Given the description of an element on the screen output the (x, y) to click on. 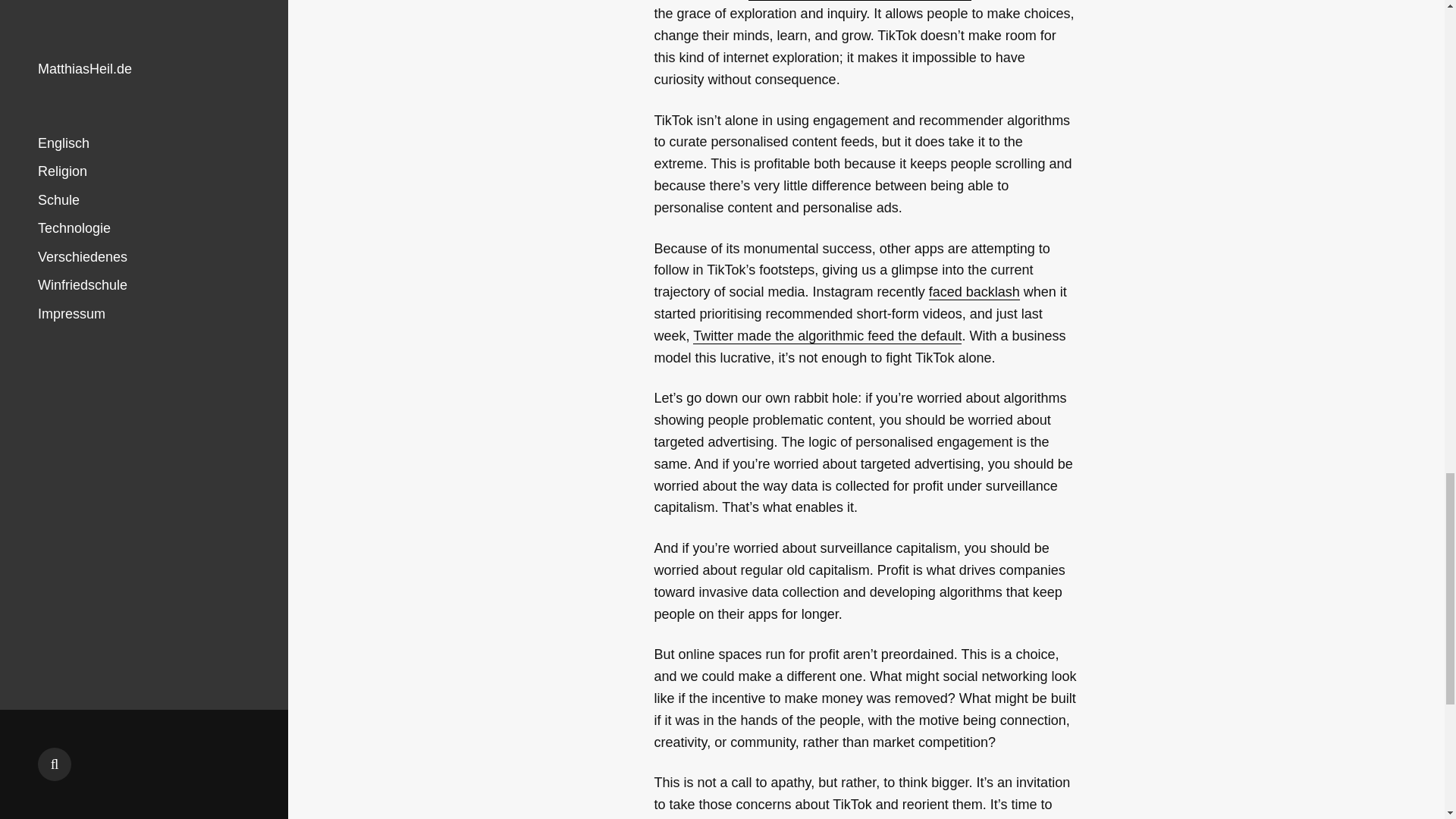
Twitter made the algorithmic feed the default (826, 335)
faced backlash (974, 292)
